Given the description of an element on the screen output the (x, y) to click on. 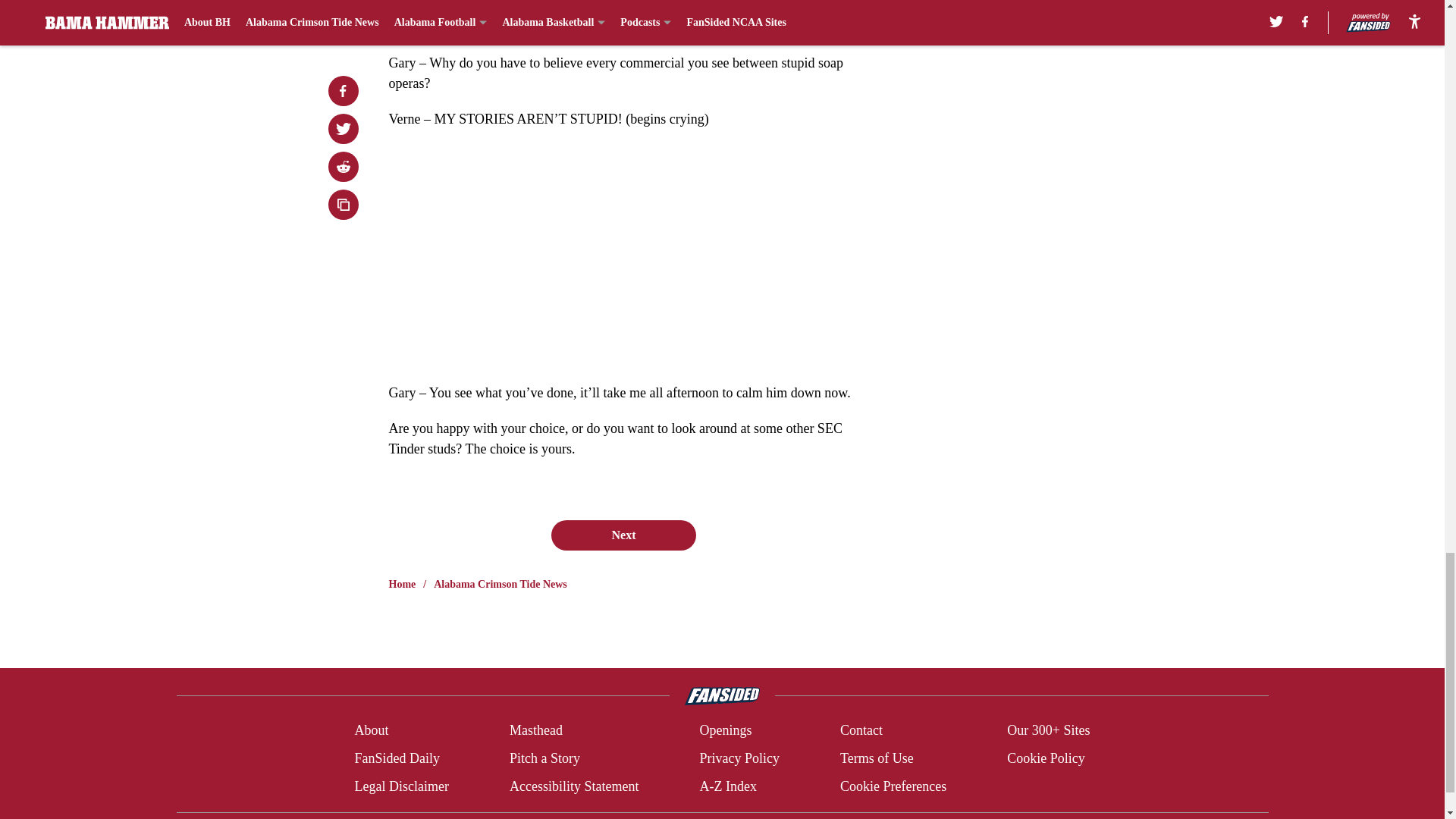
Home (401, 584)
Openings (724, 730)
Next (622, 535)
Contact (861, 730)
Alabama Crimson Tide News (500, 584)
Masthead (535, 730)
About (370, 730)
